Given the description of an element on the screen output the (x, y) to click on. 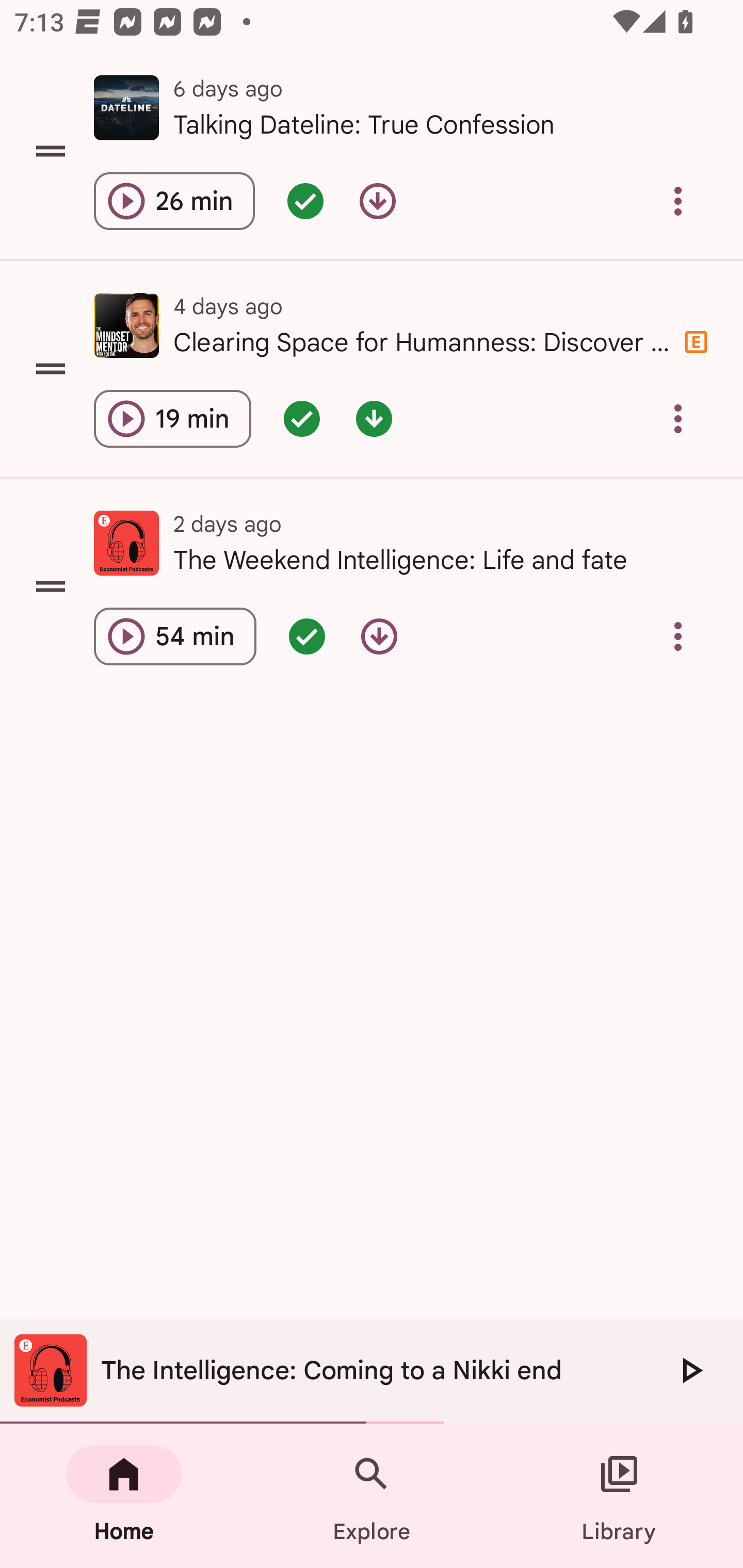
Episode queued - double tap for options (304, 201)
Download episode (377, 201)
Overflow menu (677, 201)
Episode queued - double tap for options (301, 418)
Episode downloaded - double tap for options (374, 418)
Overflow menu (677, 418)
Episode queued - double tap for options (307, 636)
Download episode (379, 636)
Overflow menu (677, 636)
Play (690, 1370)
Explore (371, 1495)
Library (619, 1495)
